Given the description of an element on the screen output the (x, y) to click on. 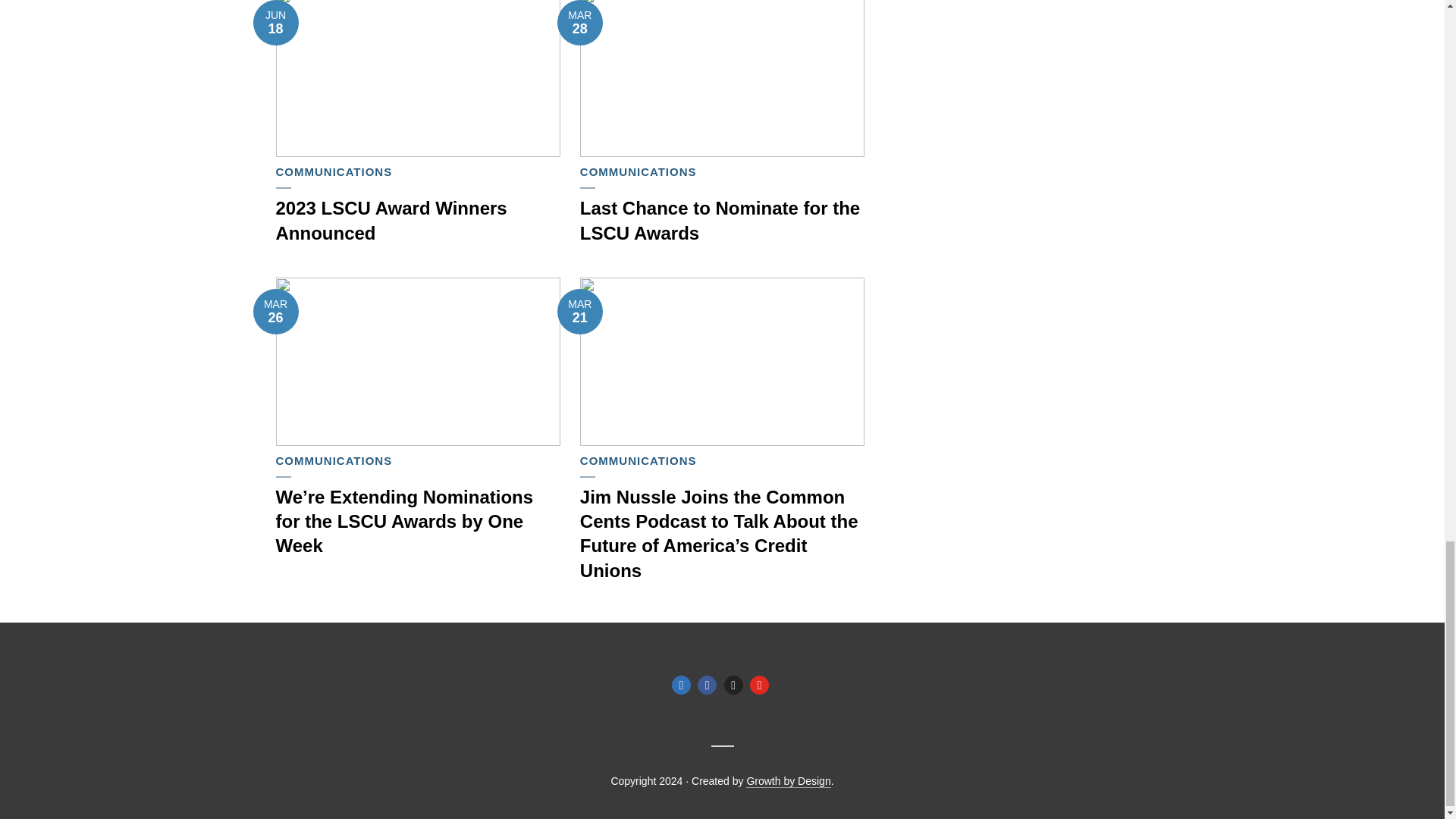
Linkedin (680, 684)
YouTube (758, 684)
Facebook (706, 684)
